Given the description of an element on the screen output the (x, y) to click on. 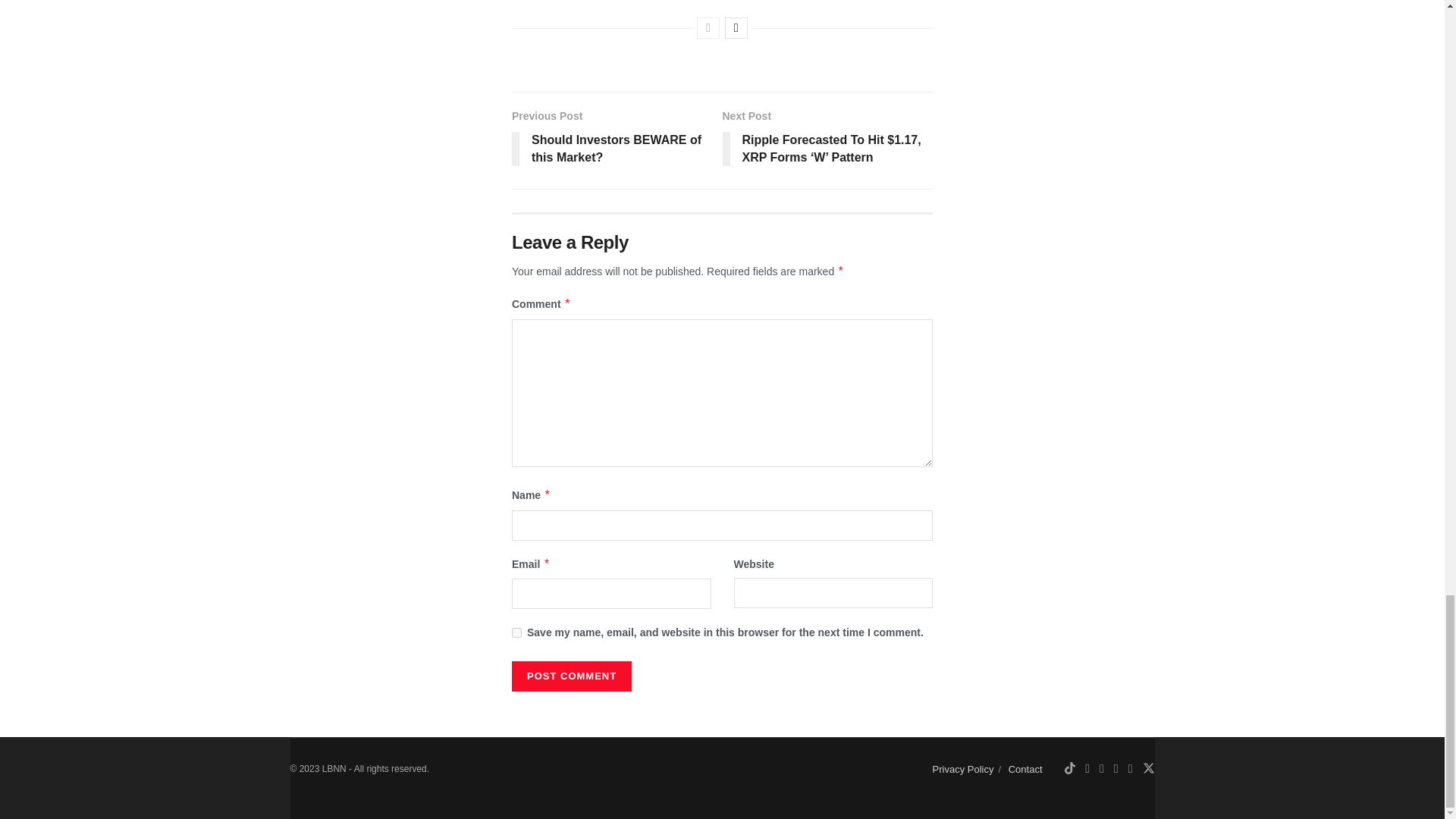
Post Comment (571, 675)
Next (736, 27)
yes (516, 633)
Previous (708, 27)
